Given the description of an element on the screen output the (x, y) to click on. 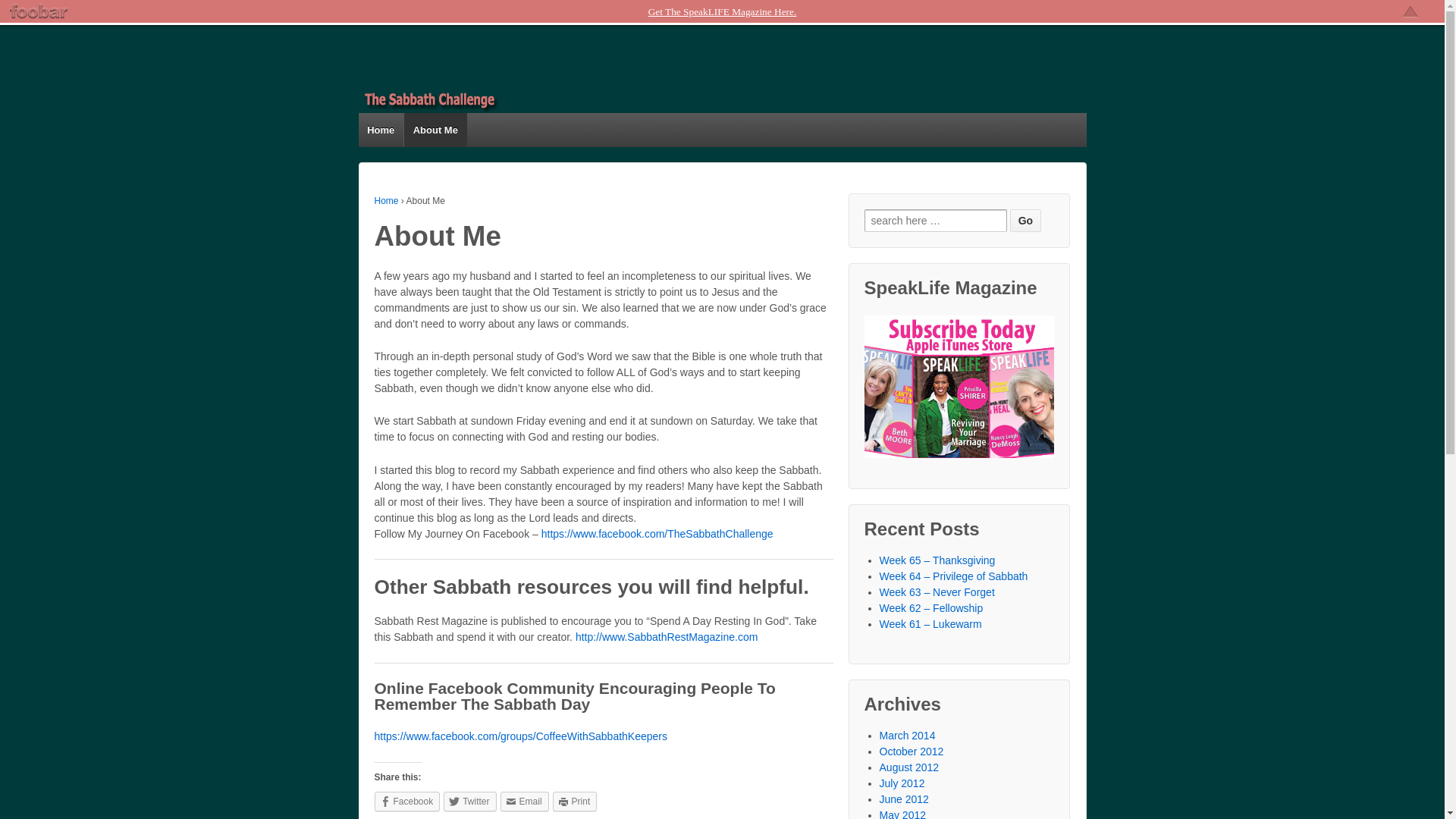
Click to print (574, 801)
Go (1025, 220)
August 2012 (909, 767)
About Me (435, 130)
Home (380, 130)
October 2012 (911, 750)
June 2012 (903, 799)
Share on Facebook (407, 801)
Email (524, 801)
Get The SpeakLIFE Magazine Here. (721, 11)
Click to share on Twitter (470, 801)
Print (574, 801)
Home (386, 200)
Facebook (407, 801)
Click to email this to a friend (524, 801)
